Given the description of an element on the screen output the (x, y) to click on. 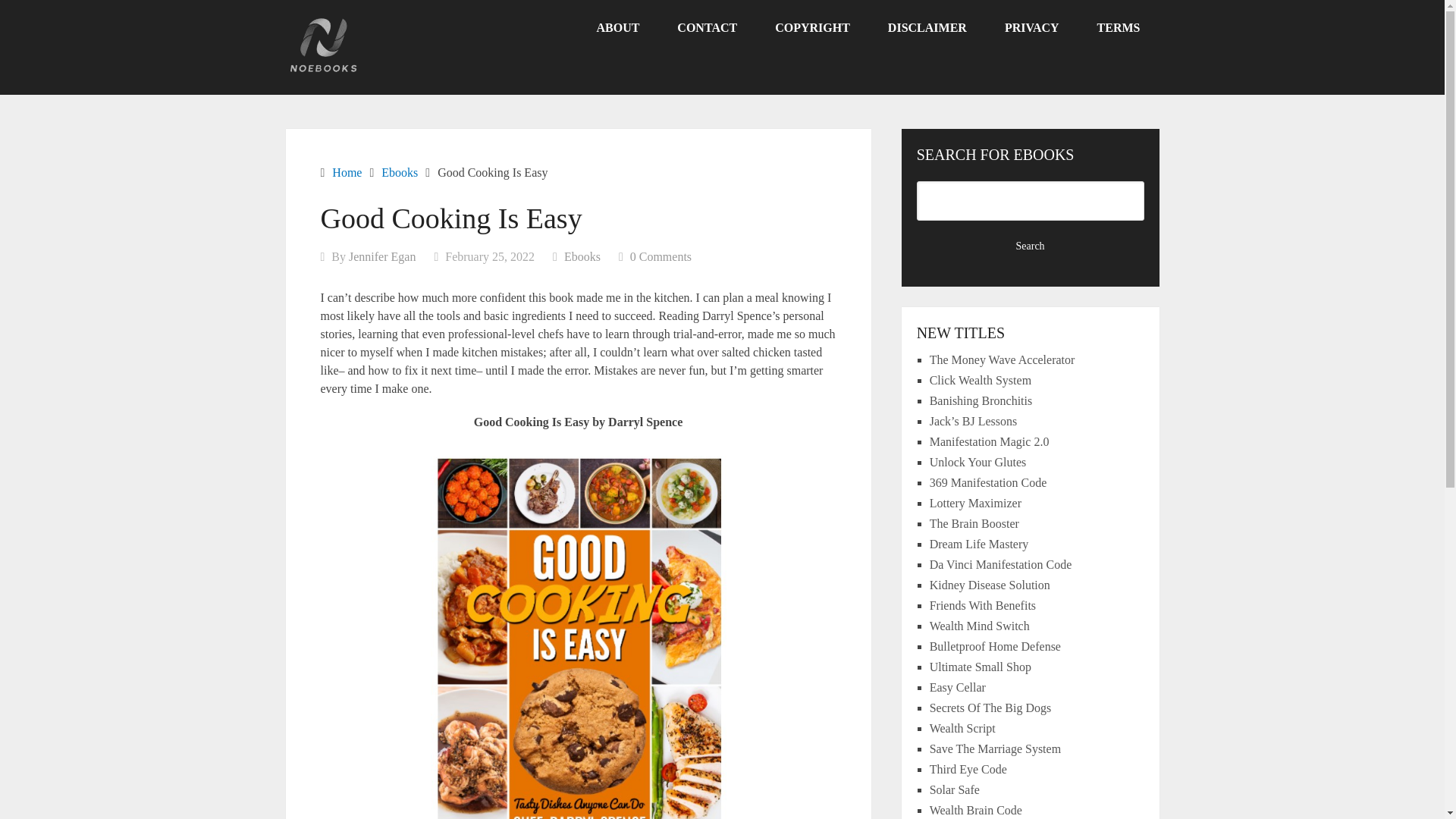
Ebooks (399, 172)
DISCLAIMER (927, 28)
Click Wealth System (980, 379)
Unlock Your Glutes (978, 461)
Friends With Benefits (982, 604)
PRIVACY (1031, 28)
Third Eye Code (968, 768)
Banishing Bronchitis (981, 400)
Secrets Of The Big Dogs (990, 707)
Save The Marriage System (995, 748)
